Given the description of an element on the screen output the (x, y) to click on. 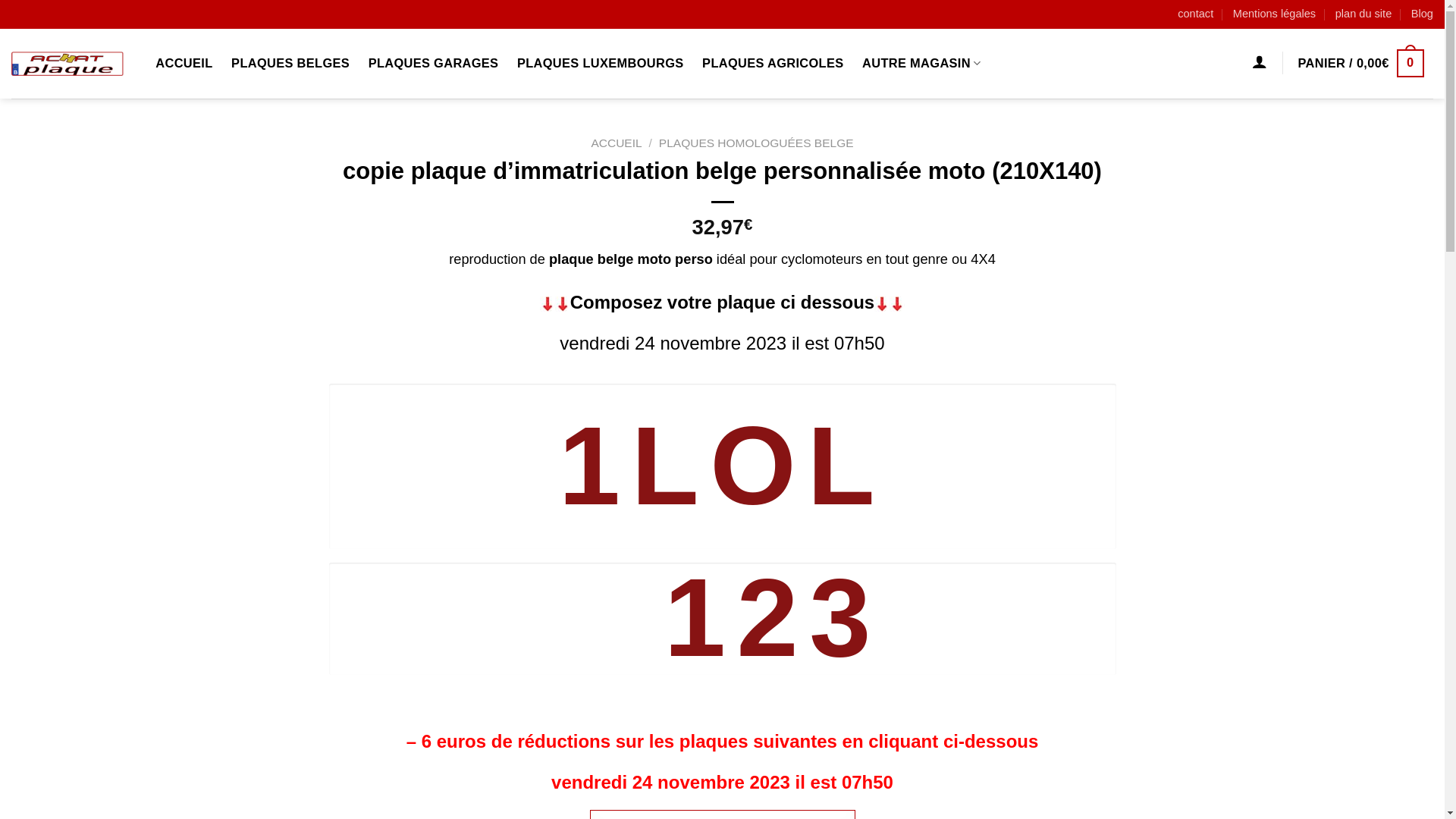
PLAQUES LUXEMBOURGS Element type: text (600, 63)
contact Element type: text (1195, 13)
plan du site Element type: text (1363, 13)
ACCUEIL Element type: text (184, 63)
PLAQUES BELGES Element type: text (290, 63)
PLAQUES AGRICOLES Element type: text (773, 63)
achat plaques - Vente de plaques d'immatriculation en ligne Element type: hover (67, 63)
ACCUEIL Element type: text (615, 142)
Blog Element type: text (1422, 13)
PLAQUES GARAGES Element type: text (432, 63)
AUTRE MAGASIN Element type: text (921, 63)
